Given the description of an element on the screen output the (x, y) to click on. 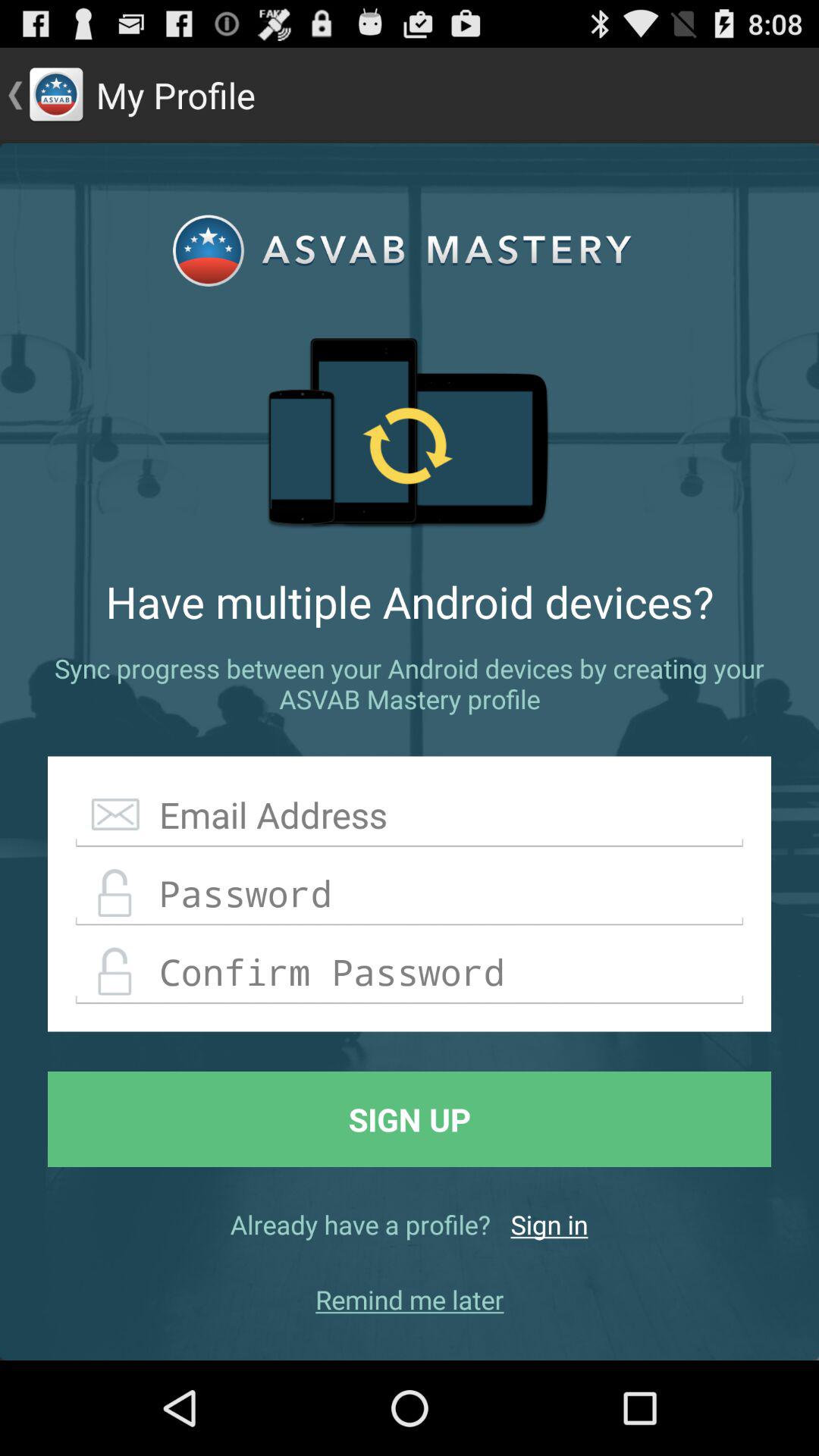
turn off item below sign up button (549, 1224)
